Given the description of an element on the screen output the (x, y) to click on. 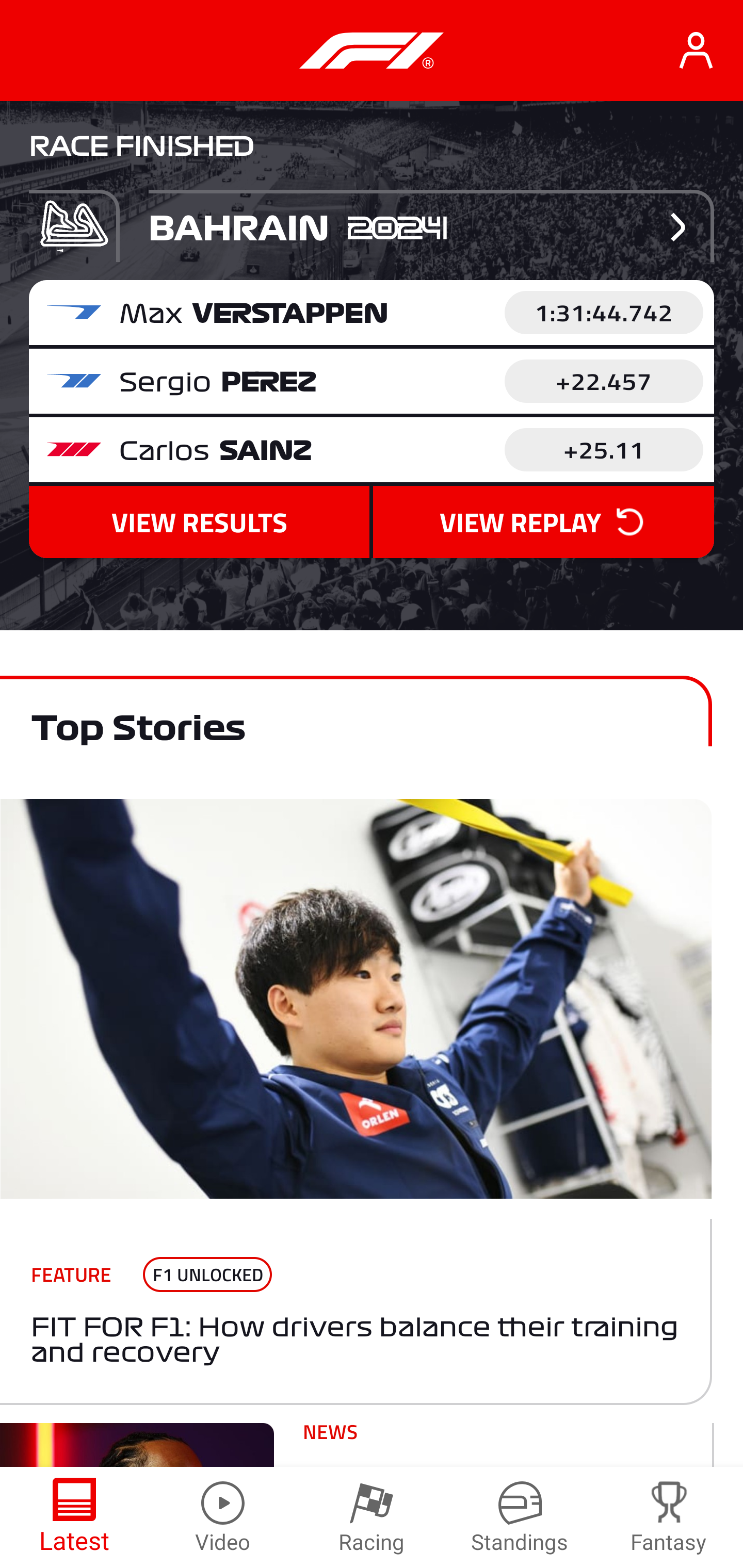
VIEW RESULTS (198, 522)
VIEW REPLAY (543, 522)
Video (222, 1517)
Racing (371, 1517)
Standings (519, 1517)
Fantasy (668, 1517)
